Given the description of an element on the screen output the (x, y) to click on. 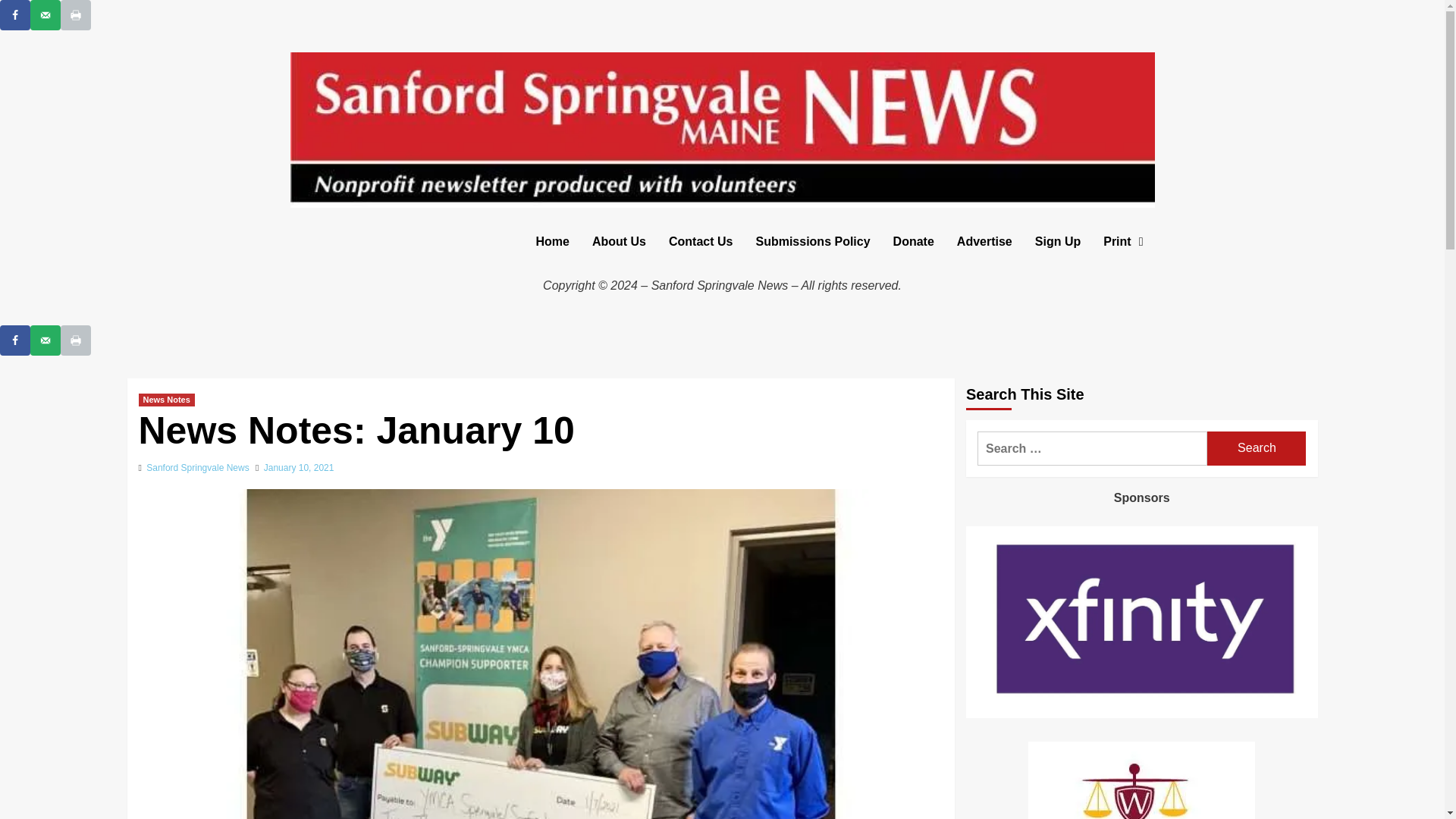
About Us (619, 241)
Advertise (983, 241)
Print this webpage (75, 15)
Share on Facebook (15, 340)
Sign Up (1057, 241)
Donate (913, 241)
Share on Facebook (15, 15)
Print (1123, 241)
Send over email (45, 340)
Submissions Policy (812, 241)
Sanford Springvale News (197, 467)
Search (1256, 448)
January 10, 2021 (298, 467)
Send over email (45, 15)
Home (551, 241)
